Given the description of an element on the screen output the (x, y) to click on. 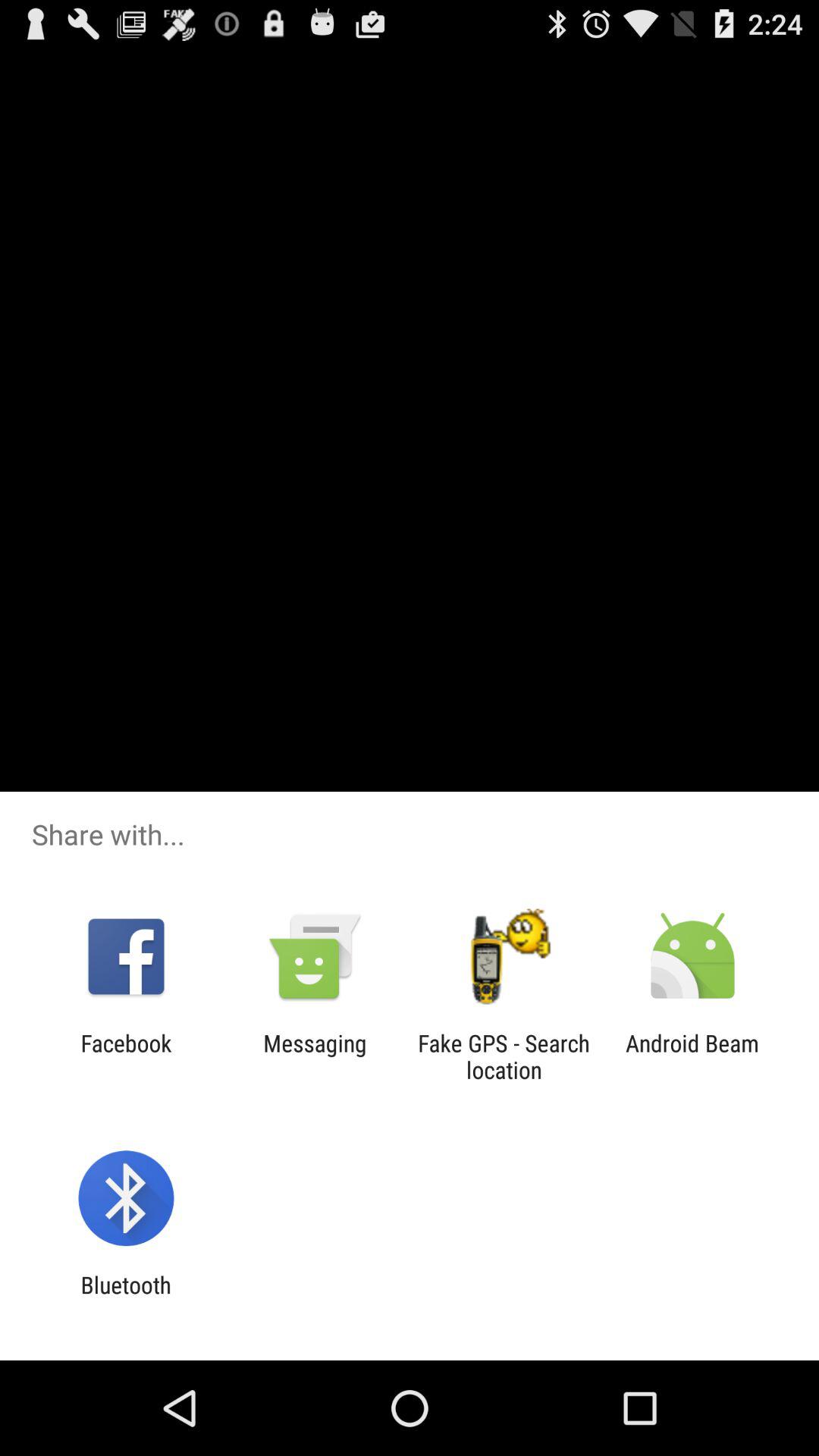
click icon to the left of messaging item (125, 1056)
